Given the description of an element on the screen output the (x, y) to click on. 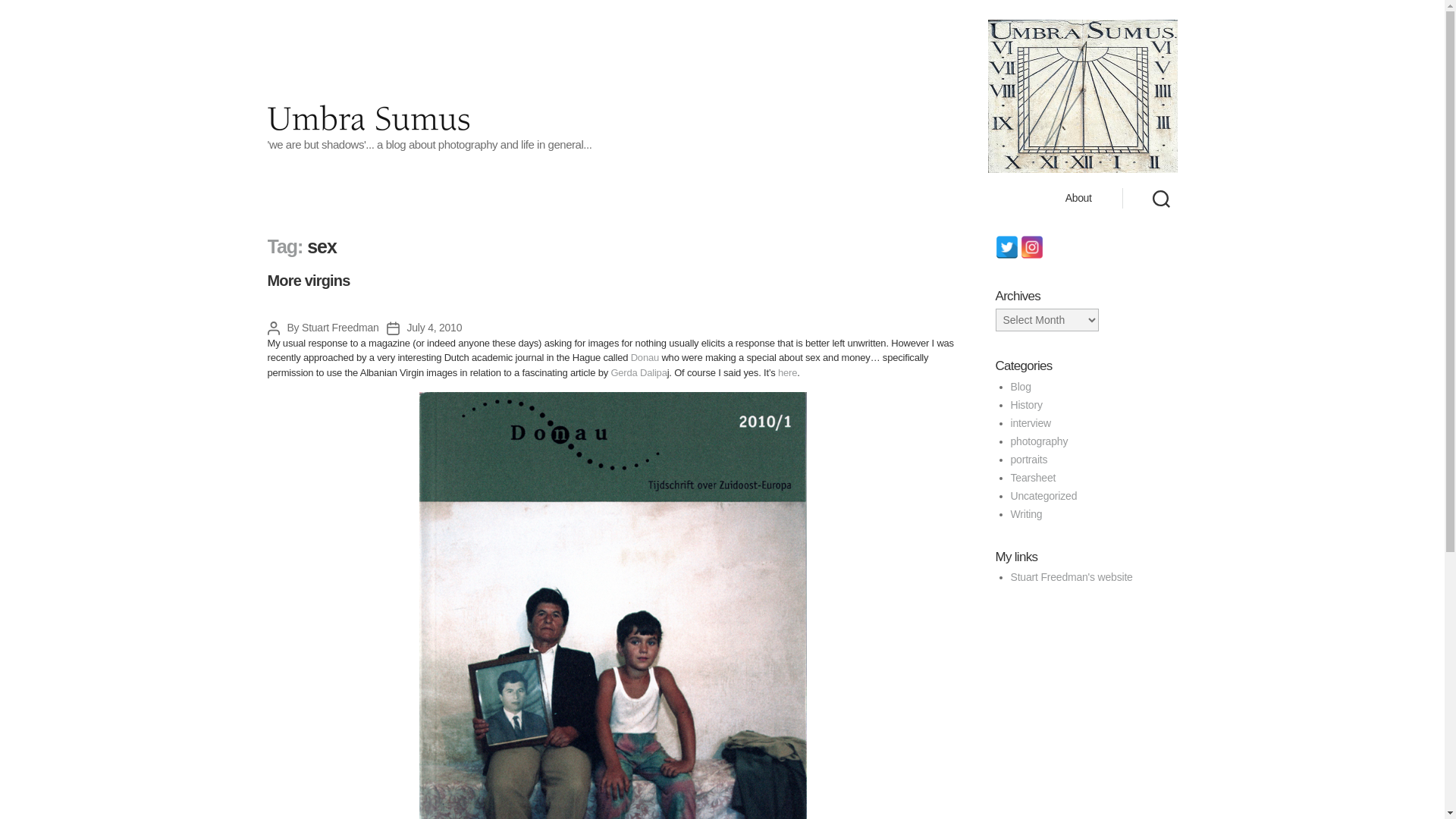
interview (1030, 422)
Donau (644, 357)
More virgins (307, 280)
July 4, 2010 (435, 327)
here (786, 372)
Blog (1020, 386)
Stuart Freedman (339, 327)
Gerda Dalipa (638, 372)
photography (1038, 440)
History (1026, 404)
About (1078, 197)
Twitter (1005, 246)
Instagram (1031, 246)
